Given the description of an element on the screen output the (x, y) to click on. 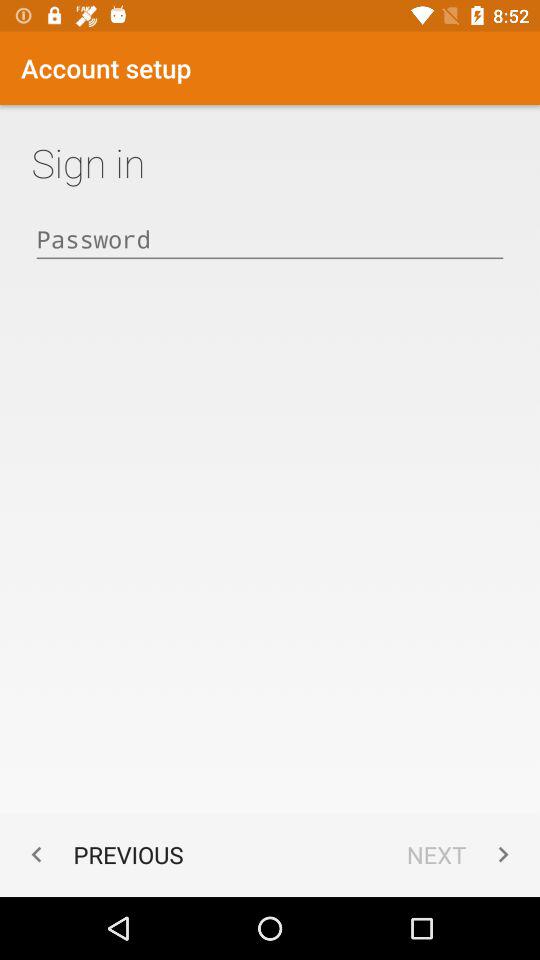
turn off item next to next (102, 854)
